Given the description of an element on the screen output the (x, y) to click on. 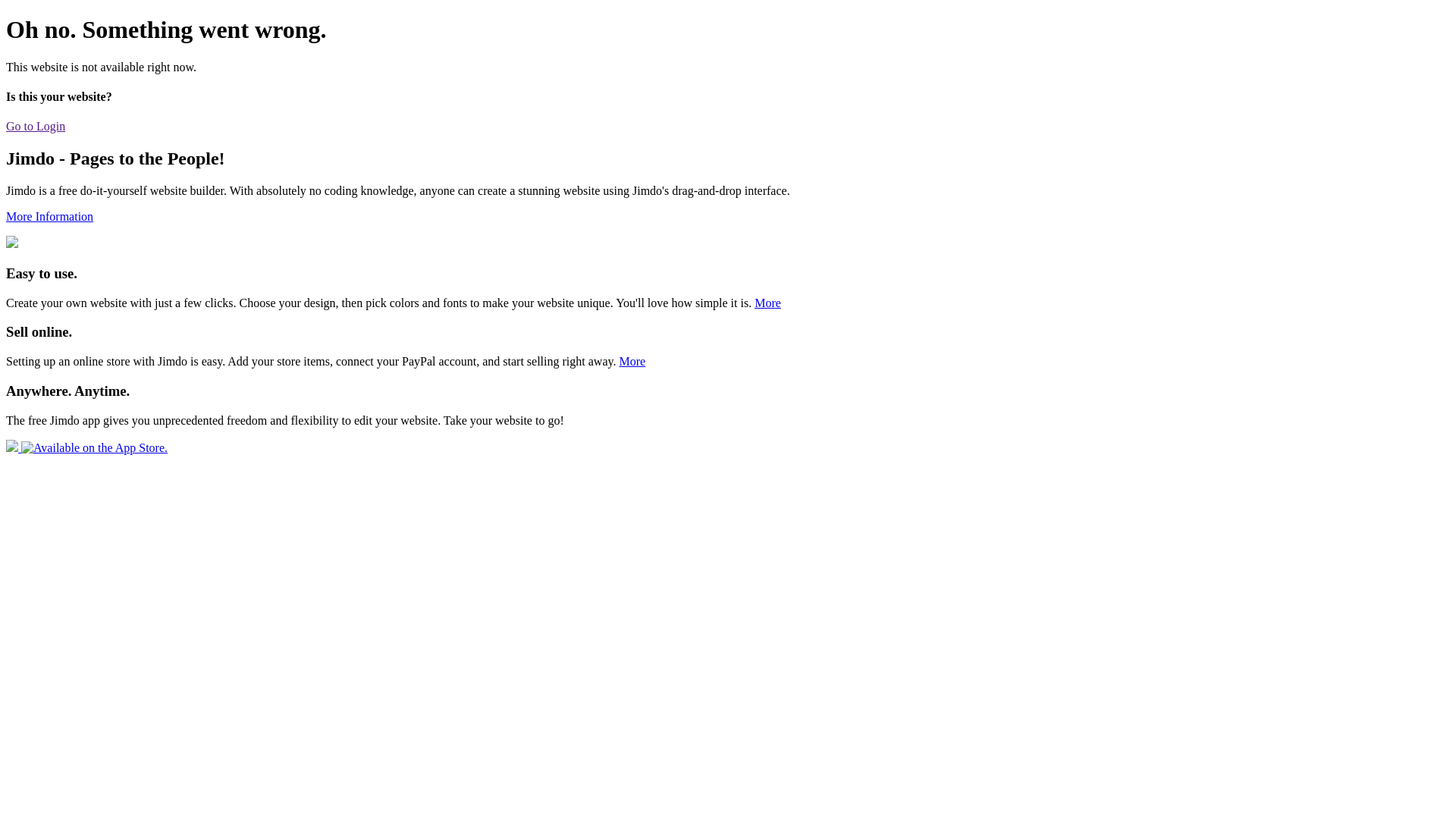
Available on the App Store. Element type: hover (86, 447)
More Information Element type: text (49, 216)
More Element type: text (631, 360)
More Element type: text (767, 302)
Go to Login Element type: text (35, 125)
